Given the description of an element on the screen output the (x, y) to click on. 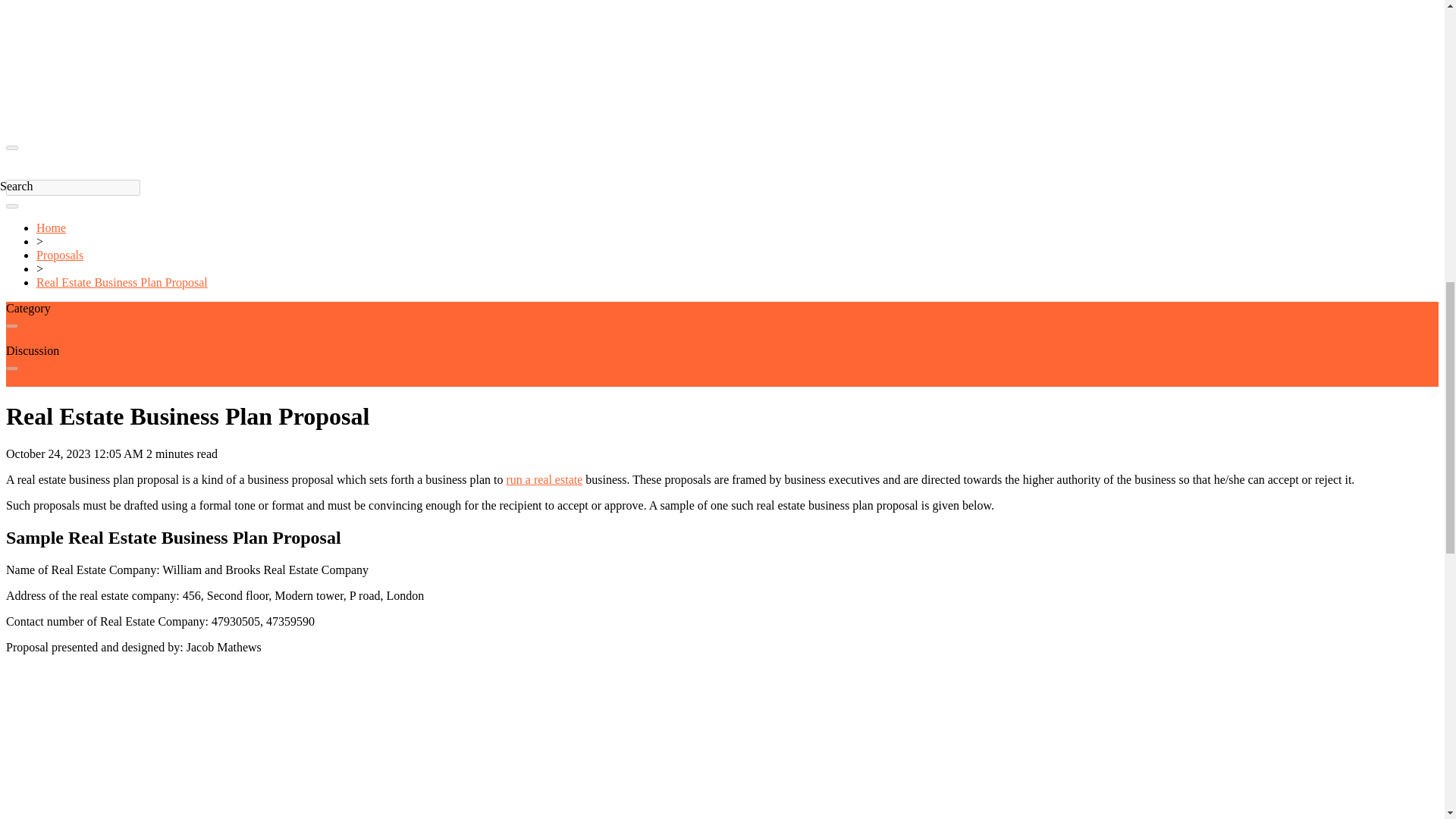
run a real estate (543, 479)
Proposals (59, 254)
Real Estate Business Plan Proposal (122, 282)
Home (50, 227)
